Given the description of an element on the screen output the (x, y) to click on. 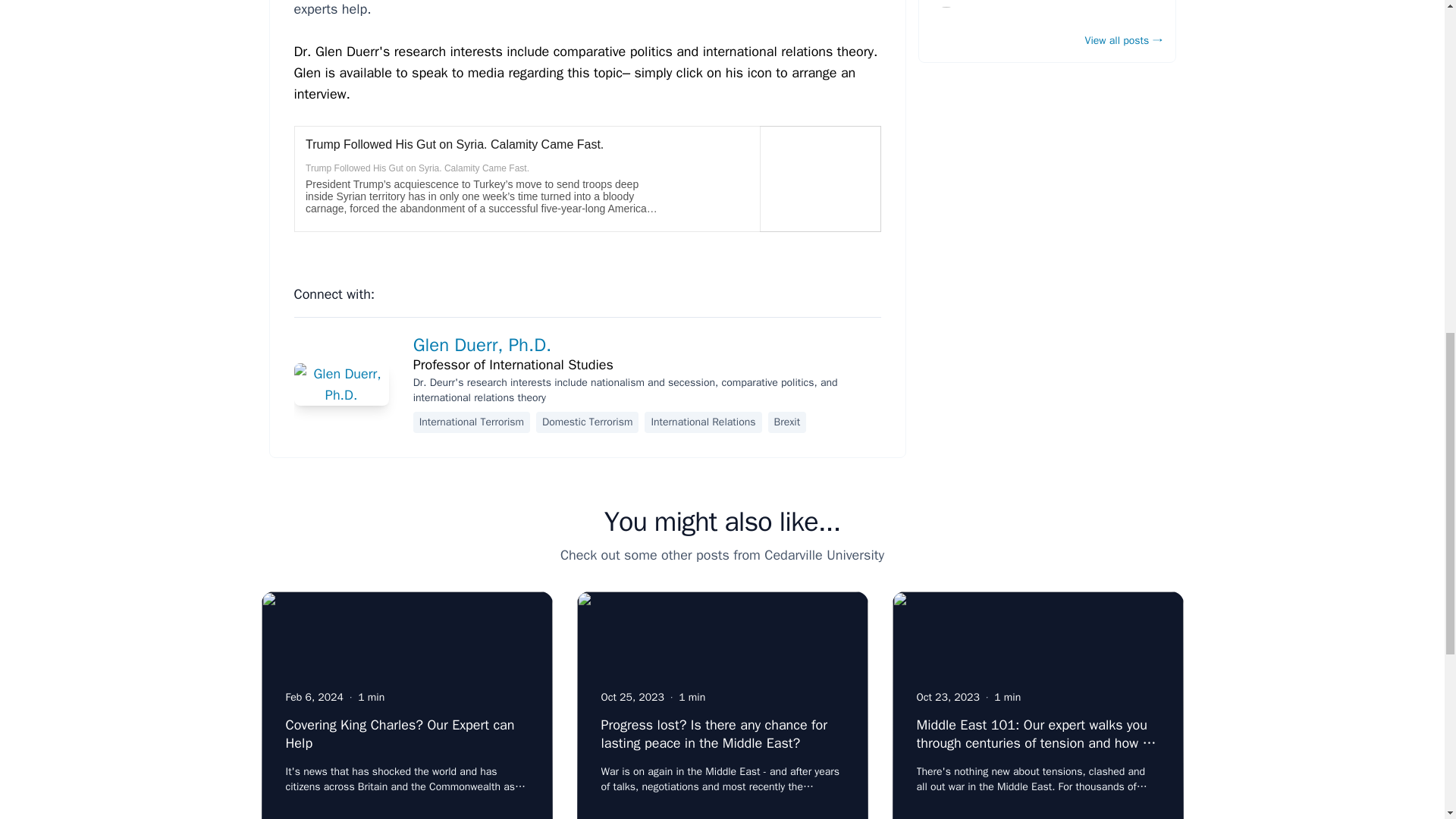
Glen Duerr, Ph.D. (482, 344)
Covering King Charles? Our Expert can Help (399, 733)
